Given the description of an element on the screen output the (x, y) to click on. 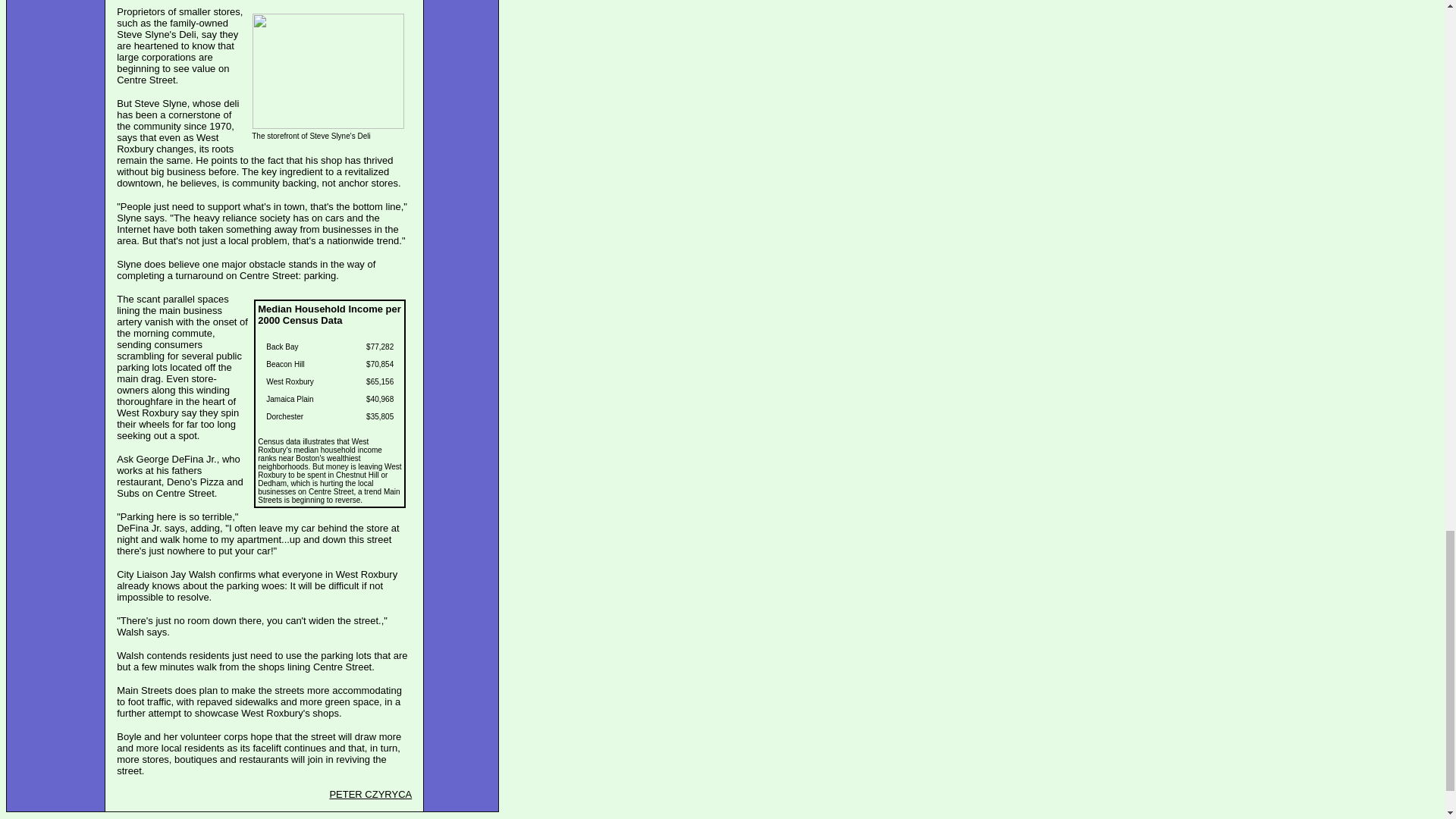
PETER CZYRYCA (370, 794)
